Given the description of an element on the screen output the (x, y) to click on. 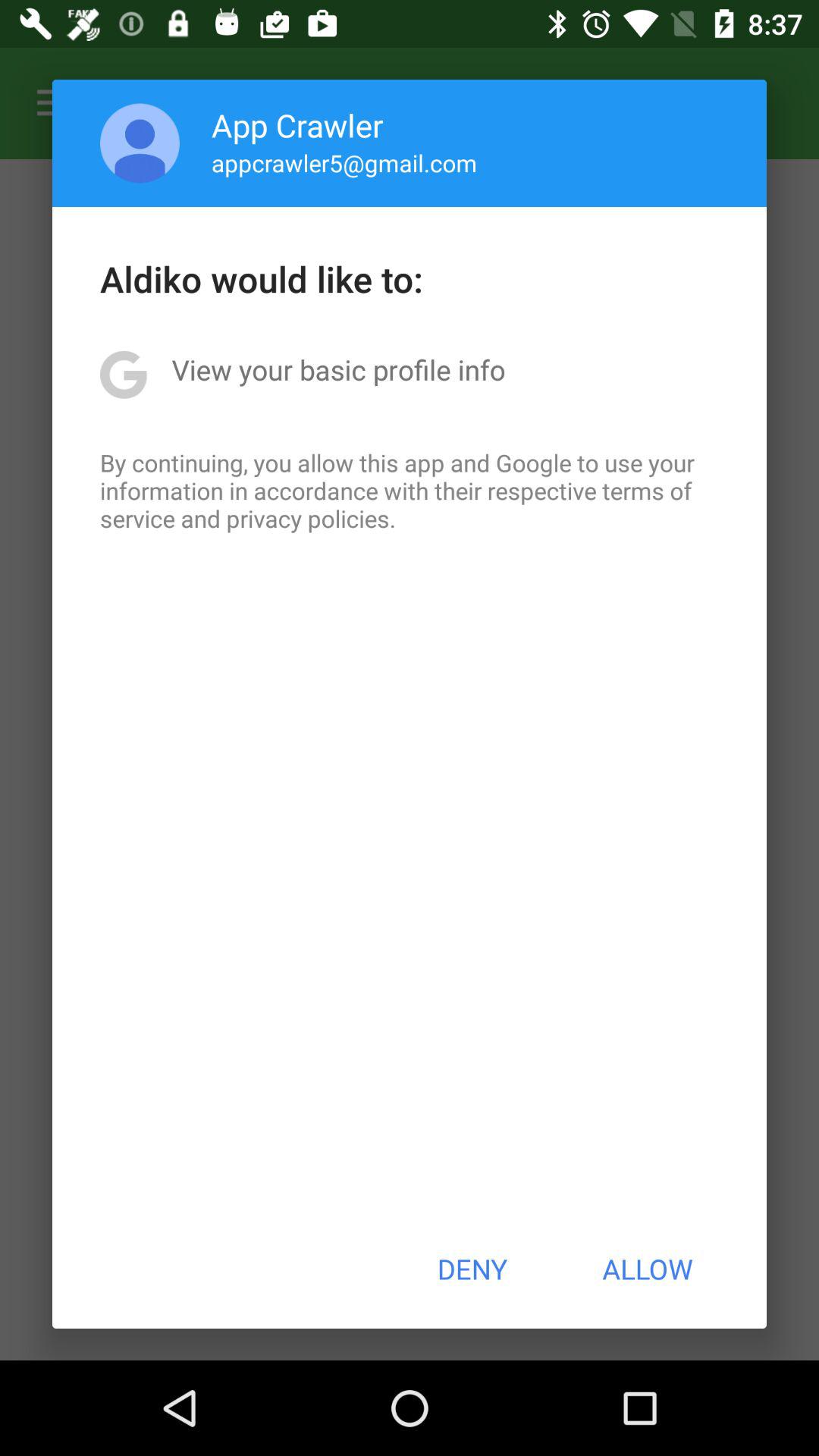
choose the app above the aldiko would like item (344, 162)
